Given the description of an element on the screen output the (x, y) to click on. 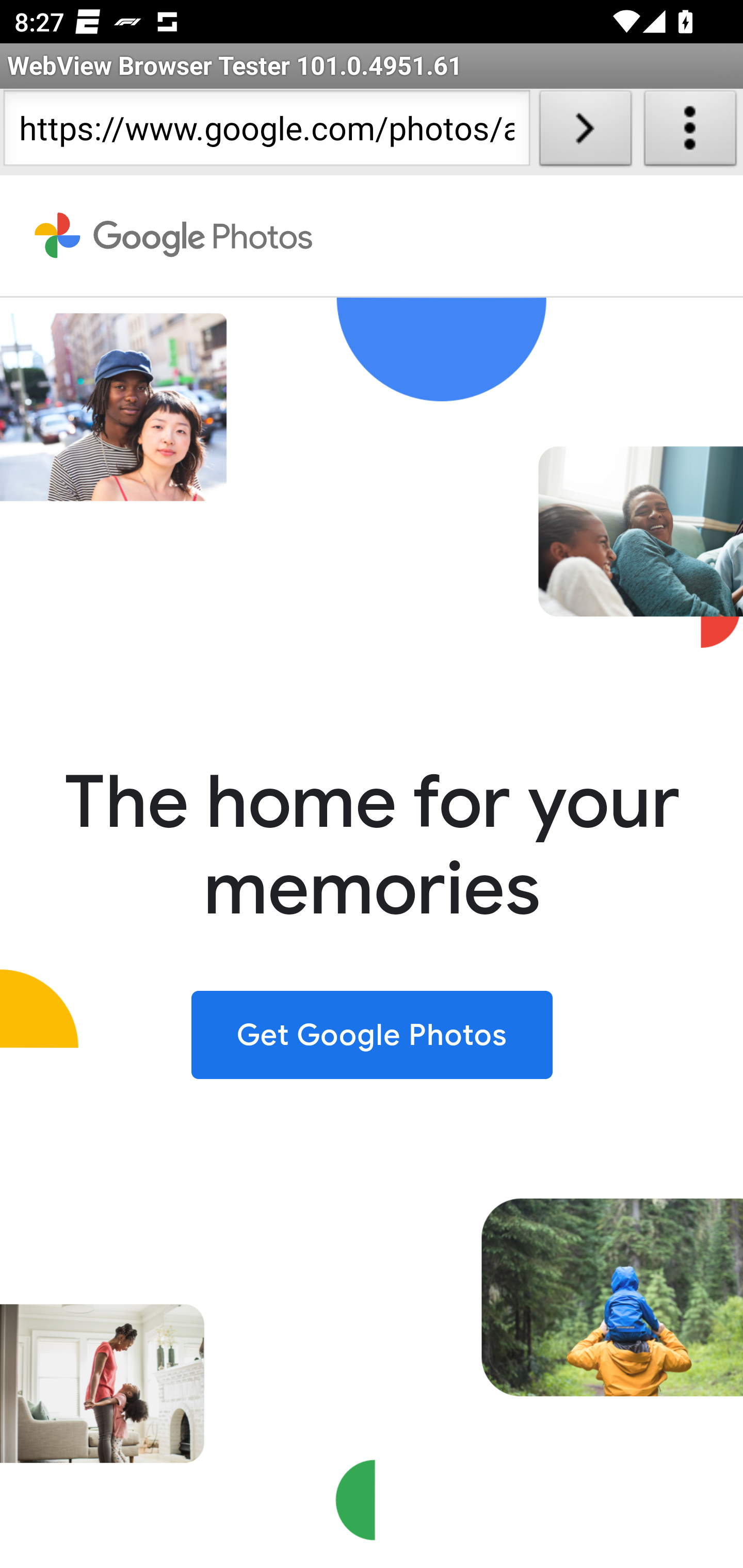
https://www.google.com/photos/about/ (266, 132)
Load URL (585, 132)
About WebView (690, 132)
Google Photos (174, 235)
Get Google Photos (371, 1033)
